Given the description of an element on the screen output the (x, y) to click on. 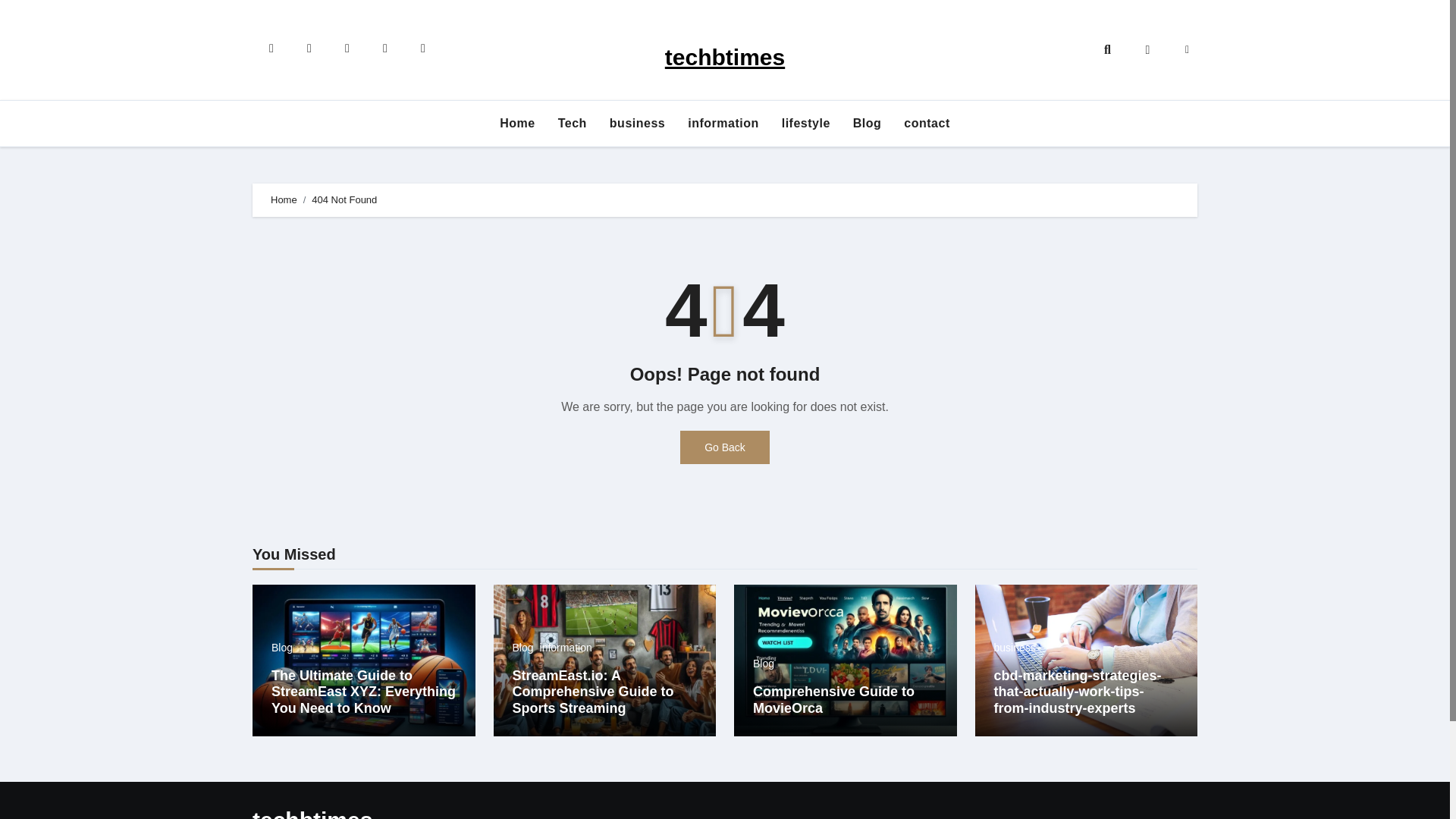
techbtimes (724, 57)
contact (926, 123)
Go Back (724, 447)
Blog (867, 123)
Home (516, 123)
Blog (281, 647)
contact (926, 123)
business (637, 123)
Home (283, 199)
Tech (572, 123)
information (566, 647)
lifestyle (805, 123)
techbtimes (311, 813)
